Given the description of an element on the screen output the (x, y) to click on. 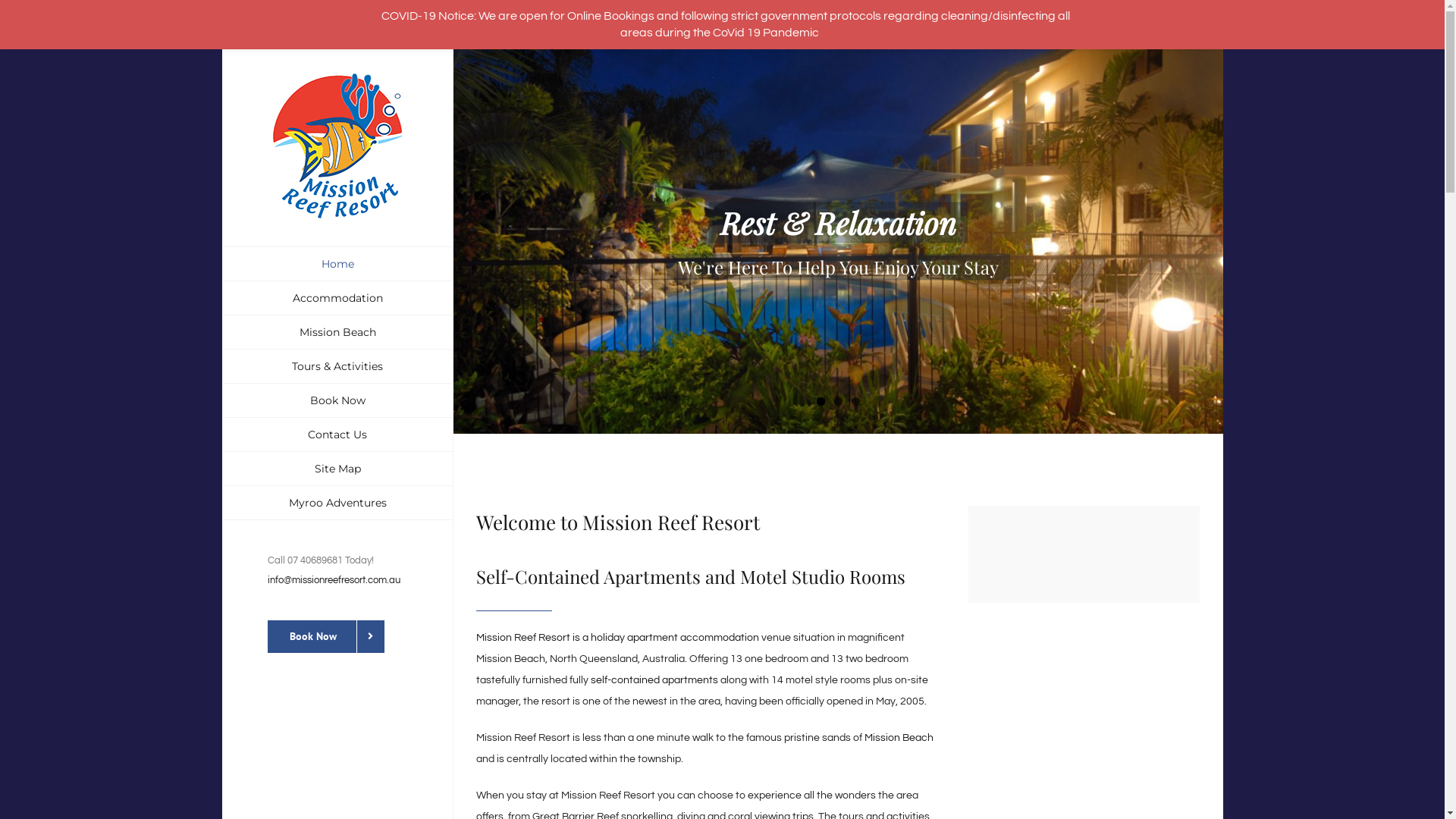
Book Now Element type: text (336, 400)
2 Element type: text (838, 401)
Mission Beach Element type: text (336, 332)
Tours & Activities Element type: text (336, 366)
Mission Beach Element type: text (898, 737)
Myroo Adventures Element type: text (336, 503)
info@missionreefresort.com.au Element type: text (332, 579)
Contact Us Element type: text (336, 434)
3 Element type: text (854, 401)
Accommodation Element type: text (336, 298)
self-contained apartments Element type: text (653, 679)
Book Now Element type: text (324, 636)
Mission Reef Resort is a holiday apartment accommodation Element type: text (617, 637)
1 Element type: text (819, 401)
Site Map Element type: text (336, 468)
Home Element type: text (336, 263)
